Given the description of an element on the screen output the (x, y) to click on. 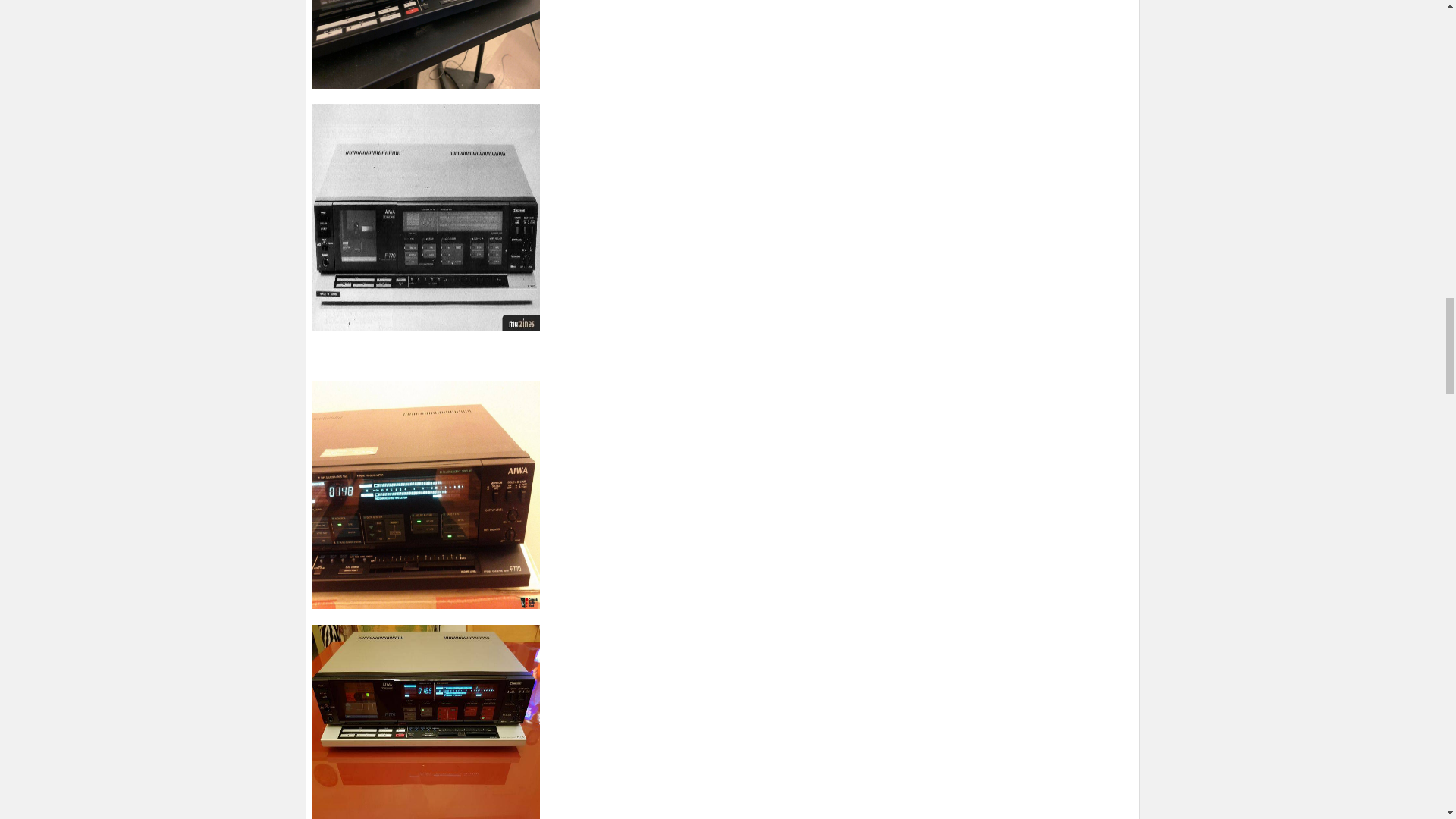
Aiwa AD-F770 (426, 721)
Aiwa AD-F770 (426, 495)
Aiwa AD-F770 (426, 44)
Aiwa AD-F770 (426, 217)
